Given the description of an element on the screen output the (x, y) to click on. 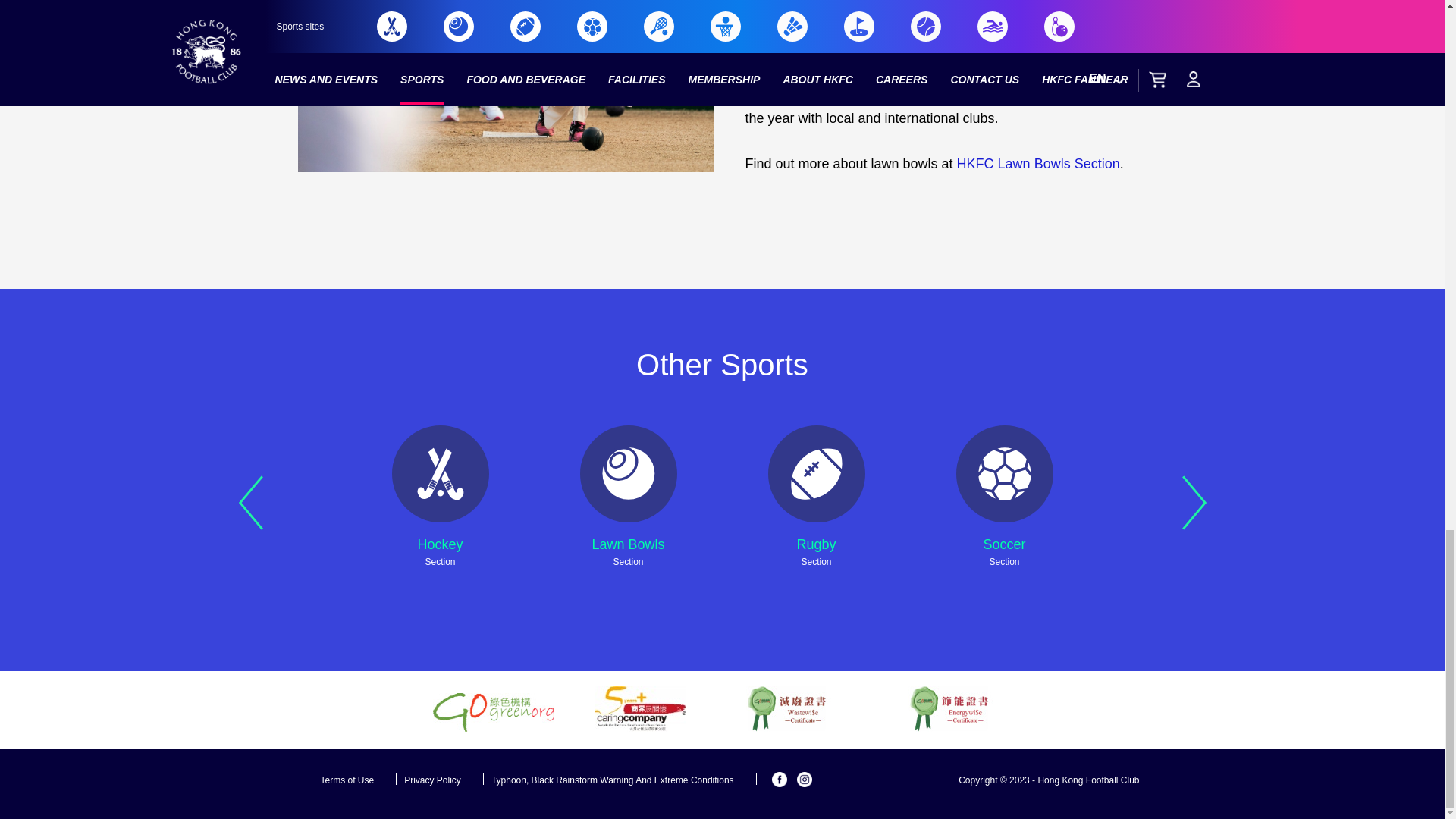
IG (804, 779)
Facebook (779, 779)
